Given the description of an element on the screen output the (x, y) to click on. 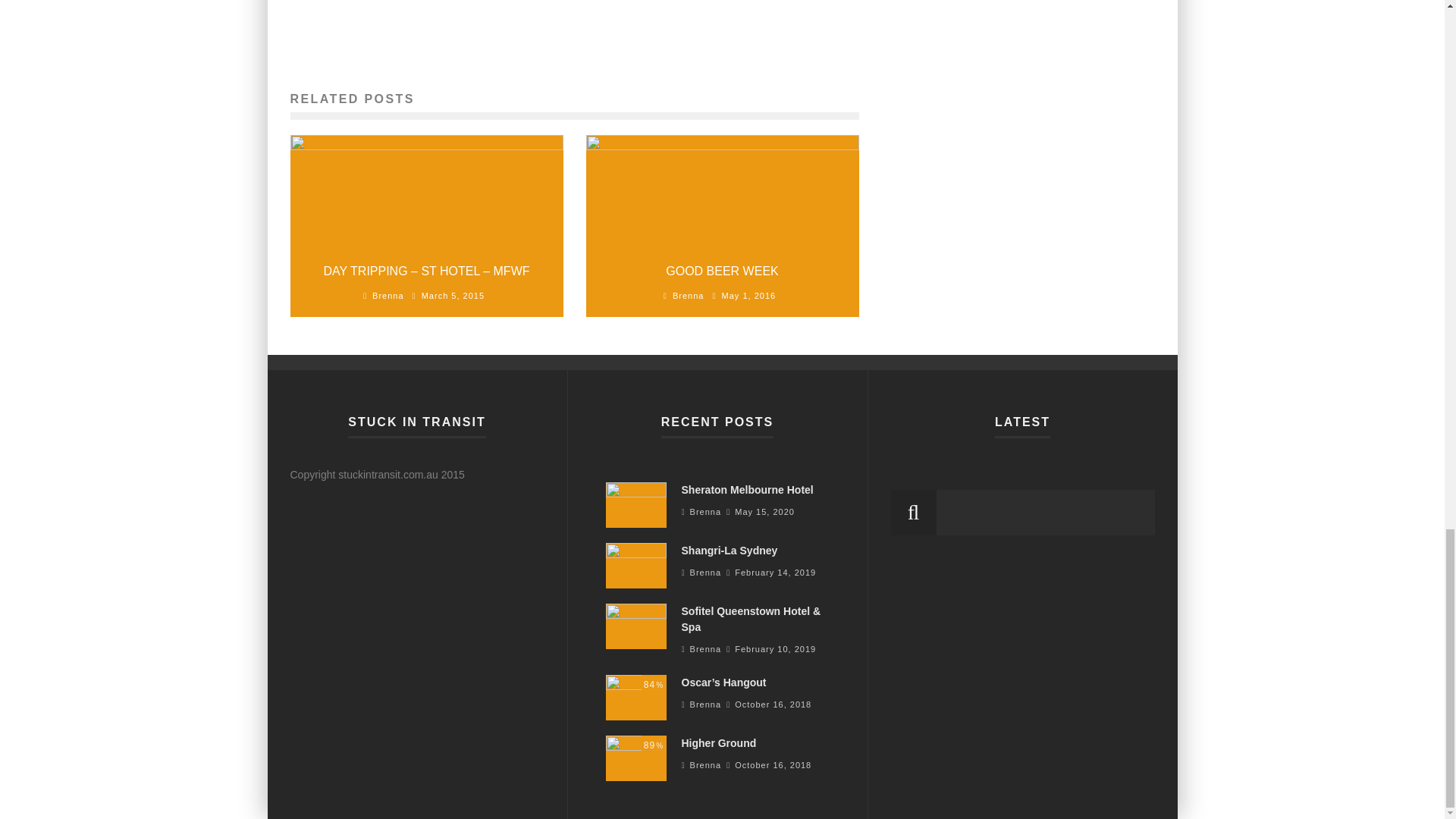
Brenna (687, 295)
Brenna (387, 295)
GOOD BEER WEEK (721, 270)
